Given the description of an element on the screen output the (x, y) to click on. 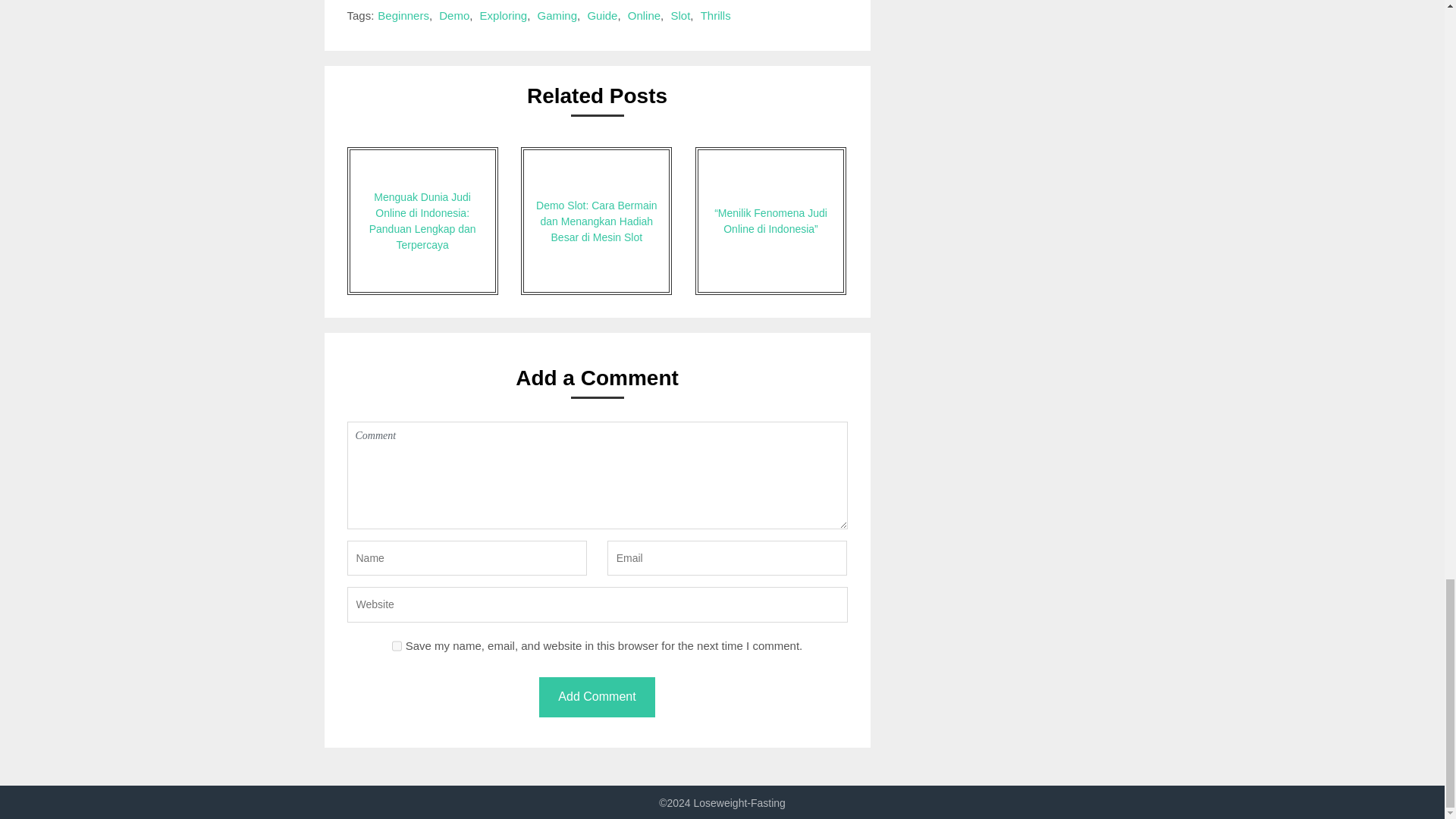
Demo (453, 15)
Online (644, 15)
Add Comment (595, 697)
Beginners (403, 15)
Gaming (556, 15)
Guide (601, 15)
Exploring (503, 15)
Thrills (715, 15)
Add Comment (595, 697)
Slot (679, 15)
